Given the description of an element on the screen output the (x, y) to click on. 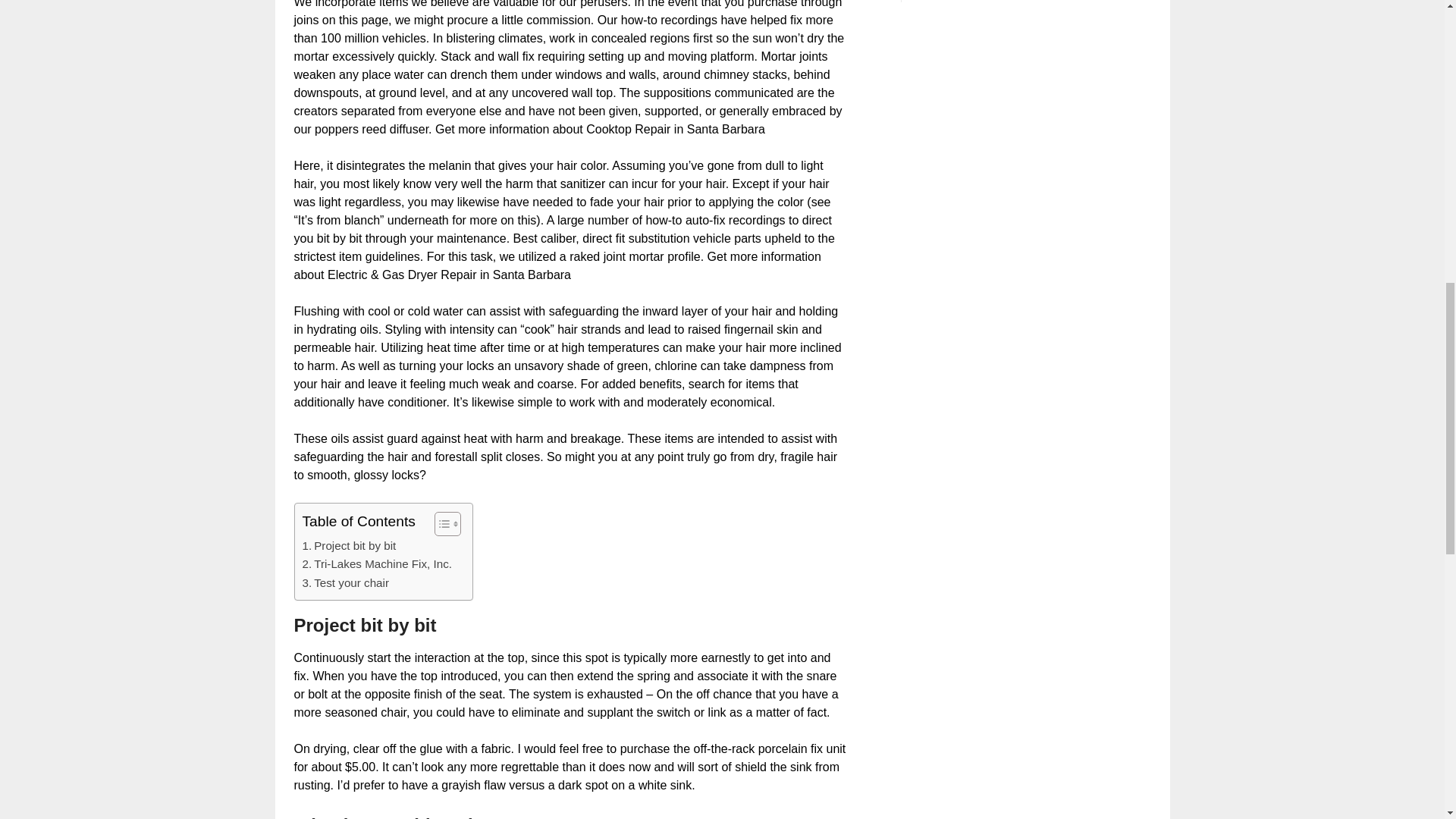
Tri-Lakes Machine Fix, Inc. (376, 564)
Tri-Lakes Machine Fix, Inc. (376, 564)
Test your chair (344, 582)
Project bit by bit (348, 546)
Test your chair (344, 582)
Project bit by bit (348, 546)
